Given the description of an element on the screen output the (x, y) to click on. 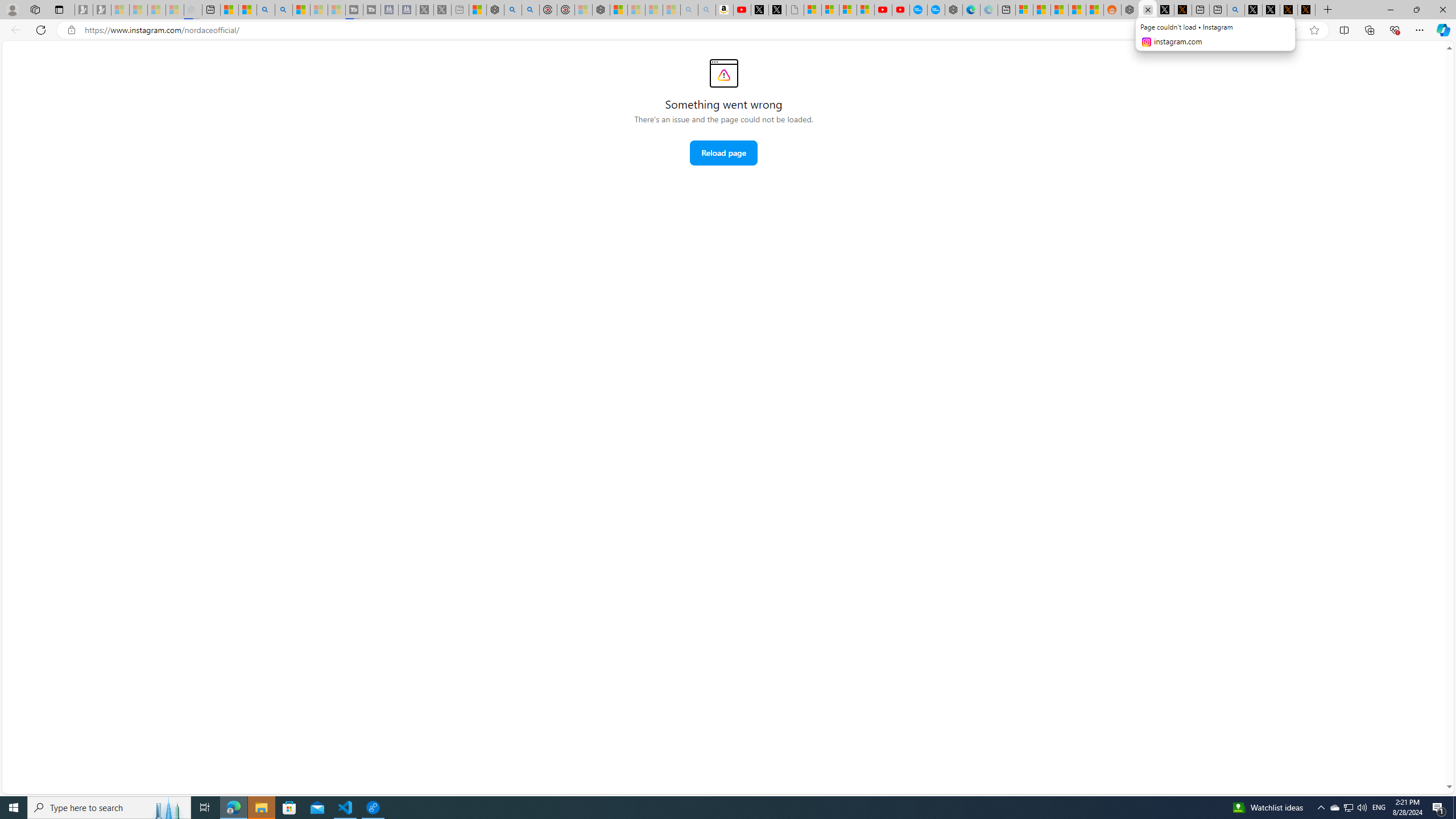
Reload page (723, 152)
Profile / X (1253, 9)
